Given the description of an element on the screen output the (x, y) to click on. 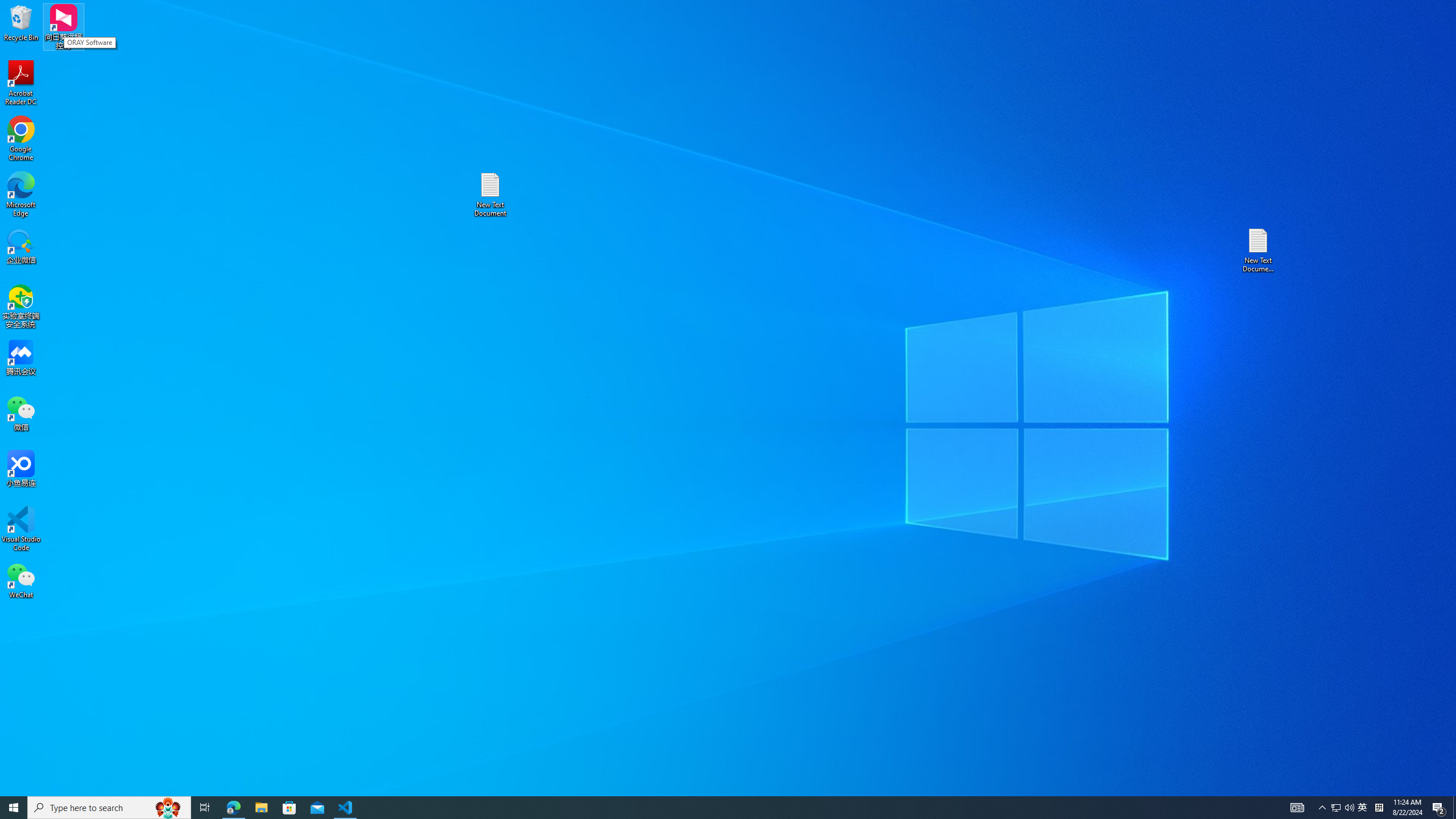
Task View (204, 807)
Microsoft Store (289, 807)
Microsoft Edge (21, 194)
Show desktop (1454, 807)
Visual Studio Code (1335, 807)
New Text Document (2) (21, 528)
User Promoted Notification Area (1258, 250)
Action Center, 2 new notifications (1342, 807)
Visual Studio Code - 1 running window (1439, 807)
Search highlights icon opens search home window (345, 807)
